Given the description of an element on the screen output the (x, y) to click on. 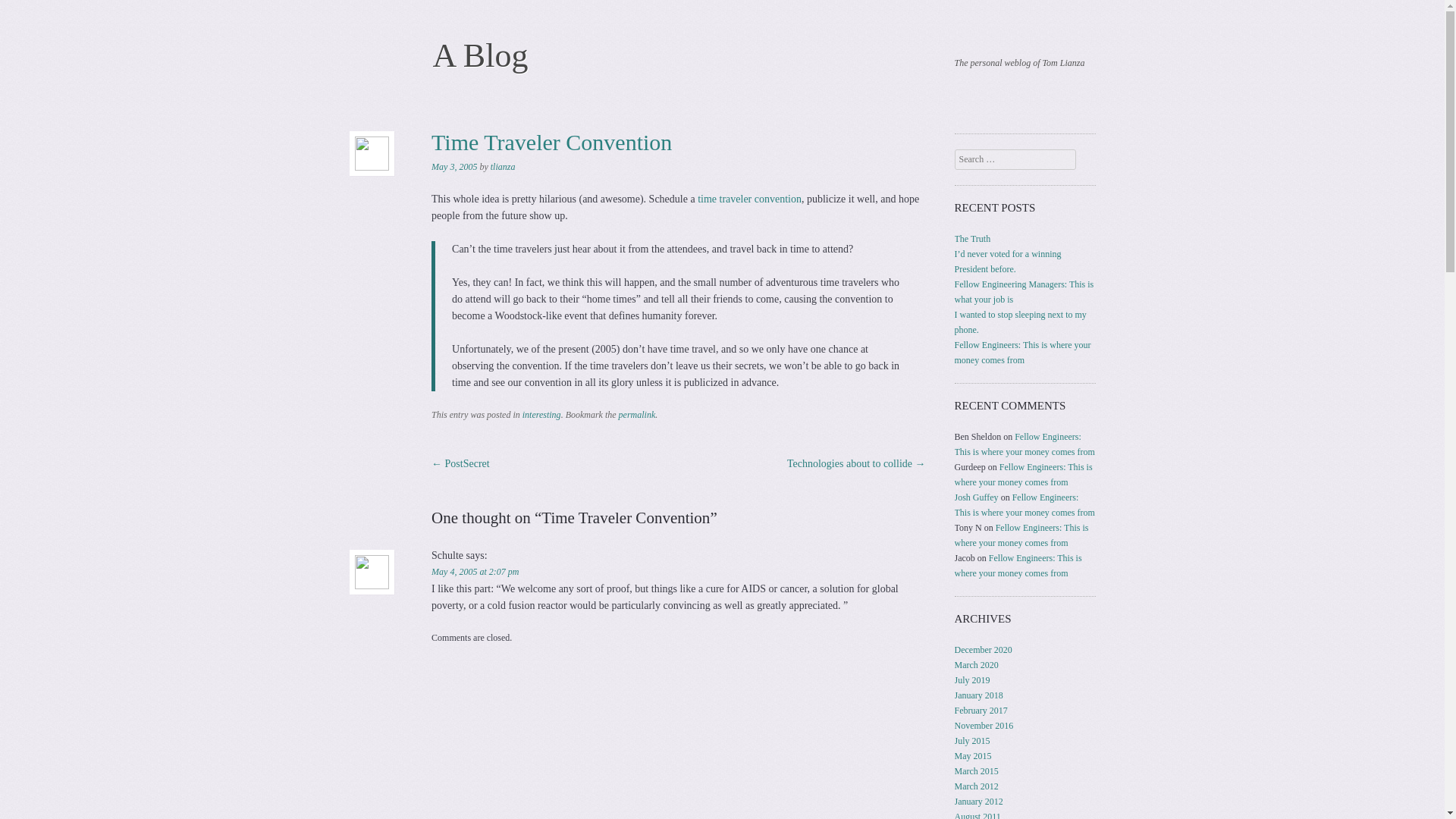
July 2019 (972, 679)
Fellow Engineers: This is where your money comes from (1018, 565)
Fellow Engineers: This is where your money comes from (1022, 534)
View all posts by tlianza (502, 166)
permalink (637, 414)
March 2020 (976, 665)
February 2017 (981, 710)
August 2011 (978, 815)
A Blog (479, 55)
Fellow Engineers: This is where your money comes from (1022, 352)
Fellow Engineering Managers: This is what your job is (1024, 291)
December 2020 (983, 649)
time traveler convention (749, 198)
Fellow Engineers: This is where your money comes from (1024, 444)
Permalink to Time Traveler Convention (637, 414)
